Given the description of an element on the screen output the (x, y) to click on. 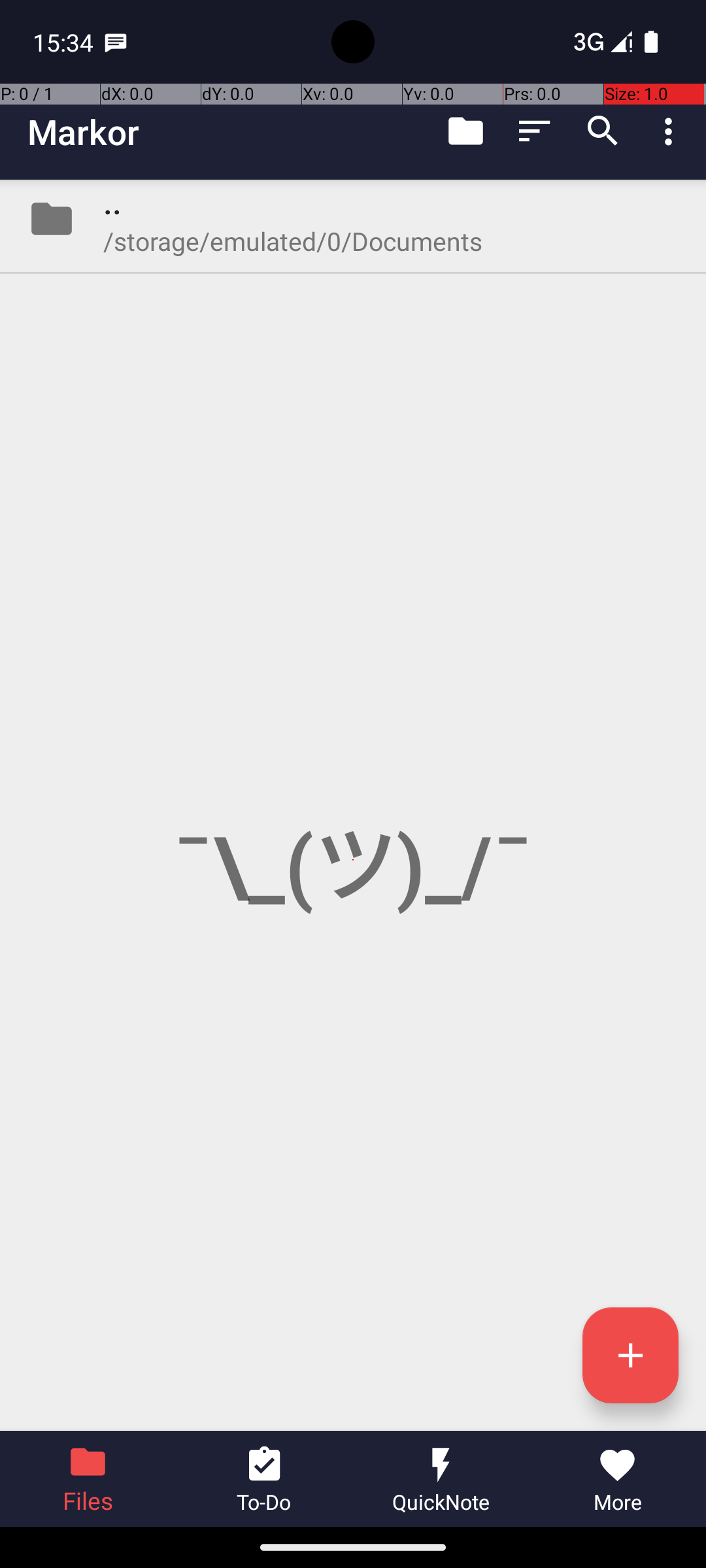
¯\_(ツ)_/¯ Element type: android.widget.TextView (353, 804)
